Given the description of an element on the screen output the (x, y) to click on. 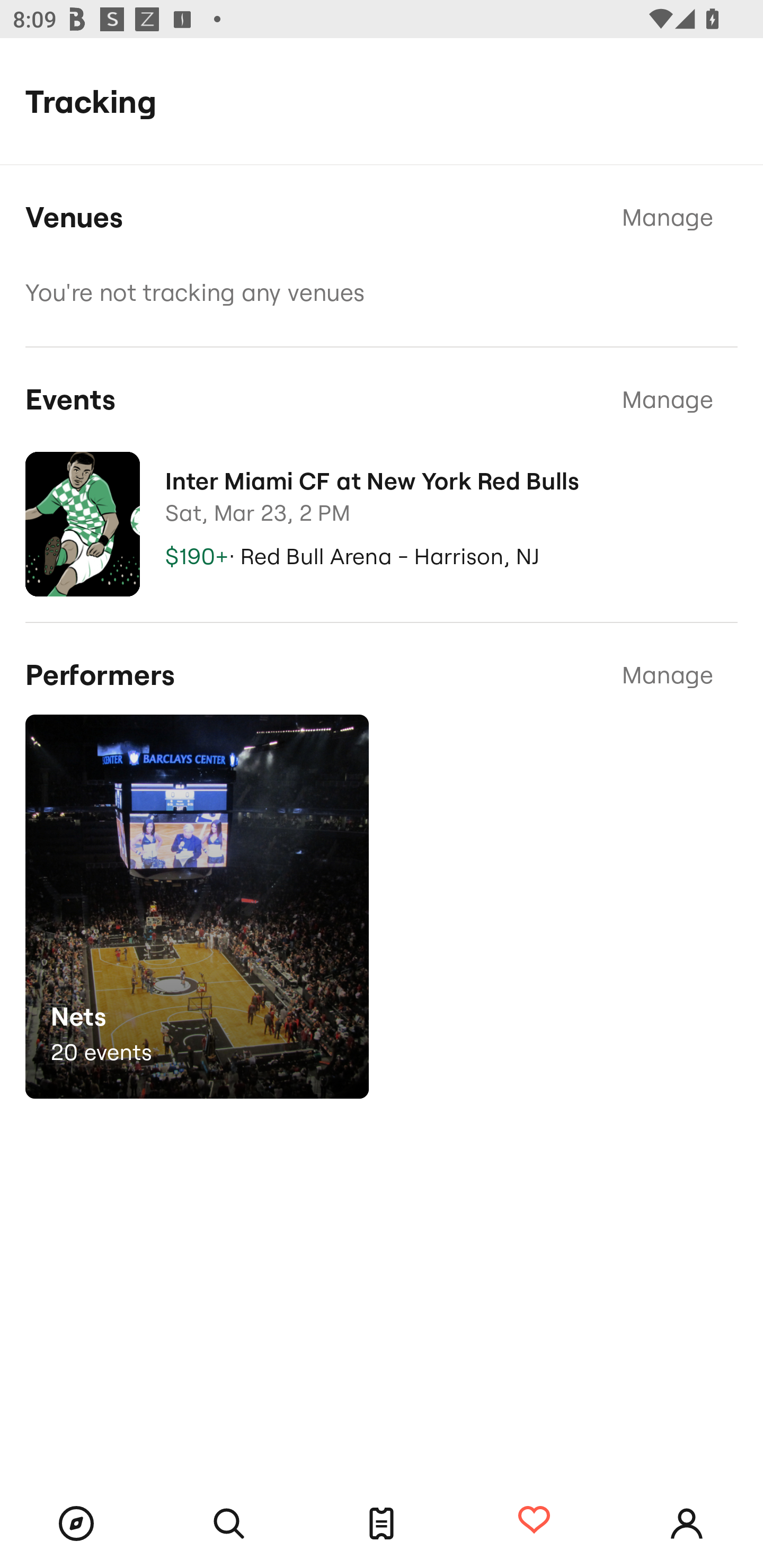
Manage (667, 217)
Manage (667, 399)
Manage (667, 675)
Nets 20 events (196, 907)
Browse (76, 1523)
Search (228, 1523)
Tickets (381, 1523)
Tracking (533, 1521)
Account (686, 1523)
